Given the description of an element on the screen output the (x, y) to click on. 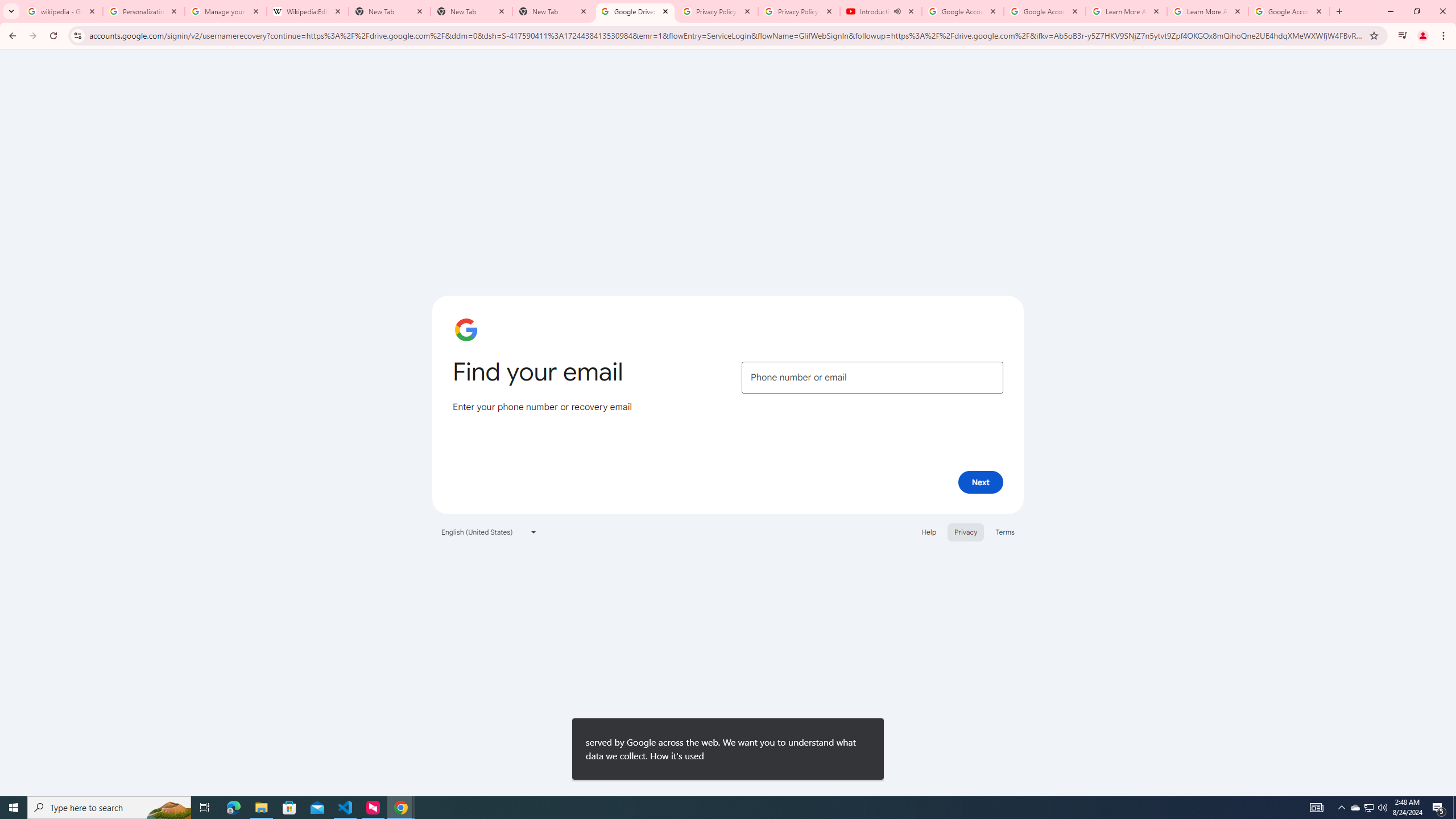
Google Account Help (963, 11)
Manage your Location History - Google Search Help (225, 11)
